Given the description of an element on the screen output the (x, y) to click on. 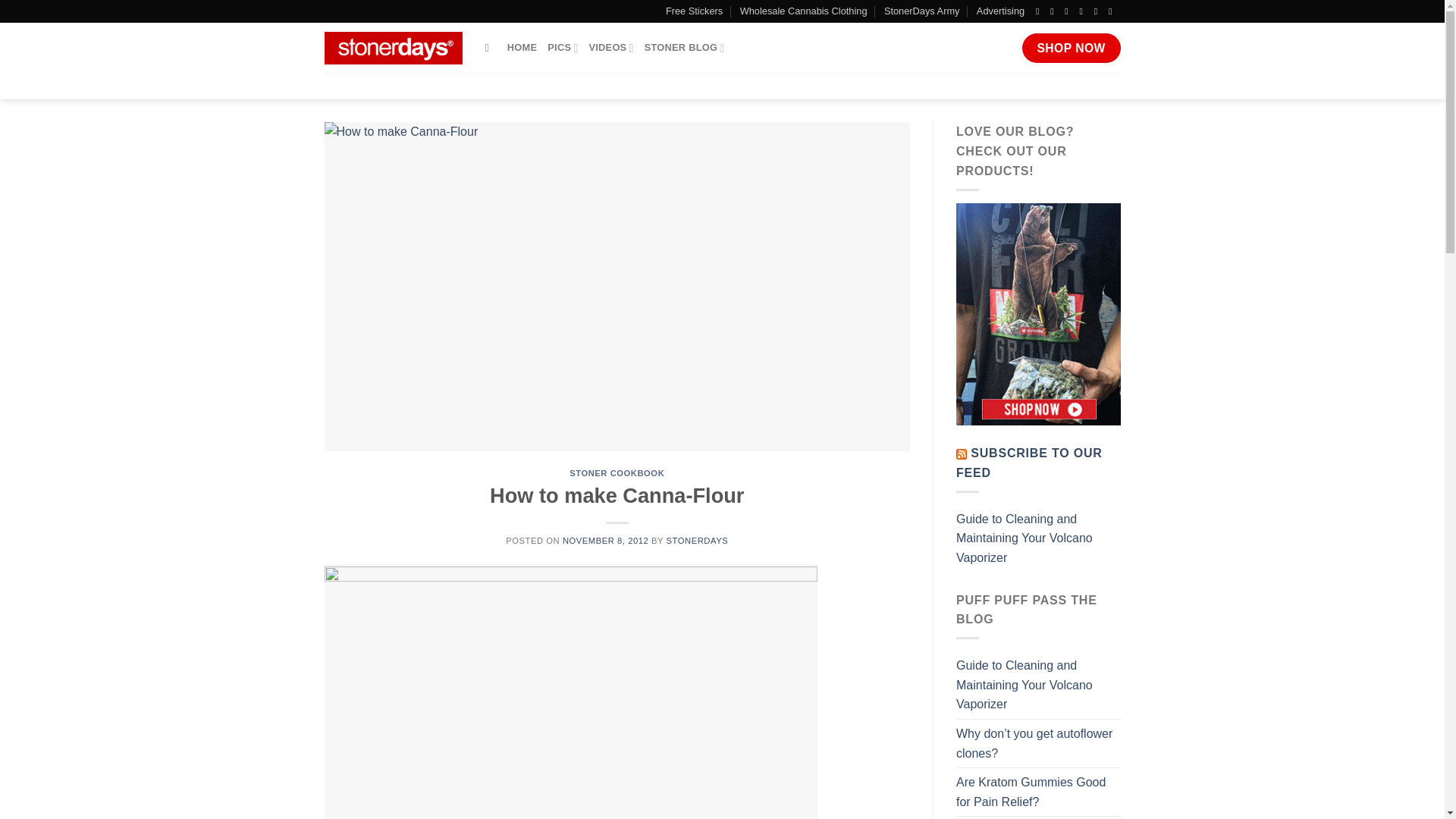
StonerDays Army (921, 11)
VIDEOS (610, 47)
StonerDays Army (921, 11)
HOME (521, 47)
Wholesale Cannabis Clothing (803, 11)
Cannabis Pictures (562, 47)
Advertising (1000, 11)
Stoner Blog (521, 47)
STONER BLOG (685, 47)
PICS (562, 47)
